Given the description of an element on the screen output the (x, y) to click on. 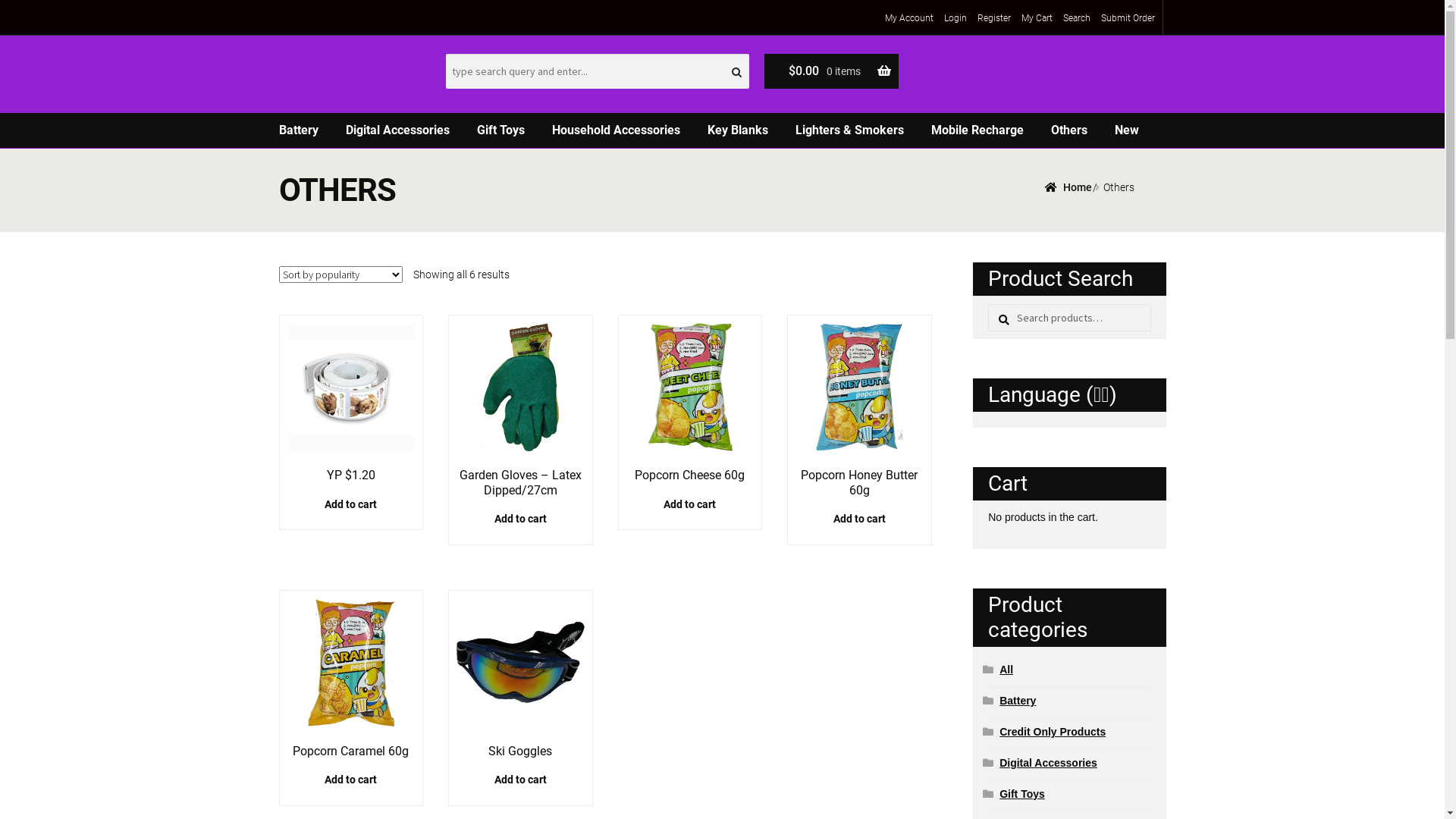
Gift Toys Element type: text (500, 129)
Digital Accessories Element type: text (1048, 762)
Add to cart Element type: text (859, 519)
Register Element type: text (993, 17)
Search Element type: text (987, 303)
Digital Accessories Element type: text (397, 129)
Mobile Recharge Element type: text (977, 129)
Popcorn Caramel 60g Element type: text (350, 678)
Login Element type: text (954, 17)
Battery Element type: text (1017, 700)
Add to cart Element type: text (351, 504)
Home Element type: text (1068, 187)
Ski Goggles Element type: text (520, 678)
Submit Order Element type: text (1127, 17)
Gift Toys Element type: text (1021, 793)
Household Accessories Element type: text (615, 129)
Add to cart Element type: text (520, 519)
Lighters & Smokers Element type: text (848, 129)
Key Blanks Element type: text (736, 129)
Popcorn Cheese 60g Element type: text (690, 403)
My Account Element type: text (908, 17)
Add to cart Element type: text (520, 780)
Credit Only Products Element type: text (1052, 731)
Others Element type: text (1068, 129)
Popcorn Honey Butter 60g Element type: text (859, 410)
All Element type: text (1006, 669)
Add to cart Element type: text (690, 504)
Battery Element type: text (298, 129)
New Element type: text (1126, 129)
Add to cart Element type: text (351, 780)
YP $1.20 Element type: text (350, 403)
Search Element type: text (1076, 17)
$0.00 0 items Element type: text (831, 70)
My Cart Element type: text (1035, 17)
